Given the description of an element on the screen output the (x, y) to click on. 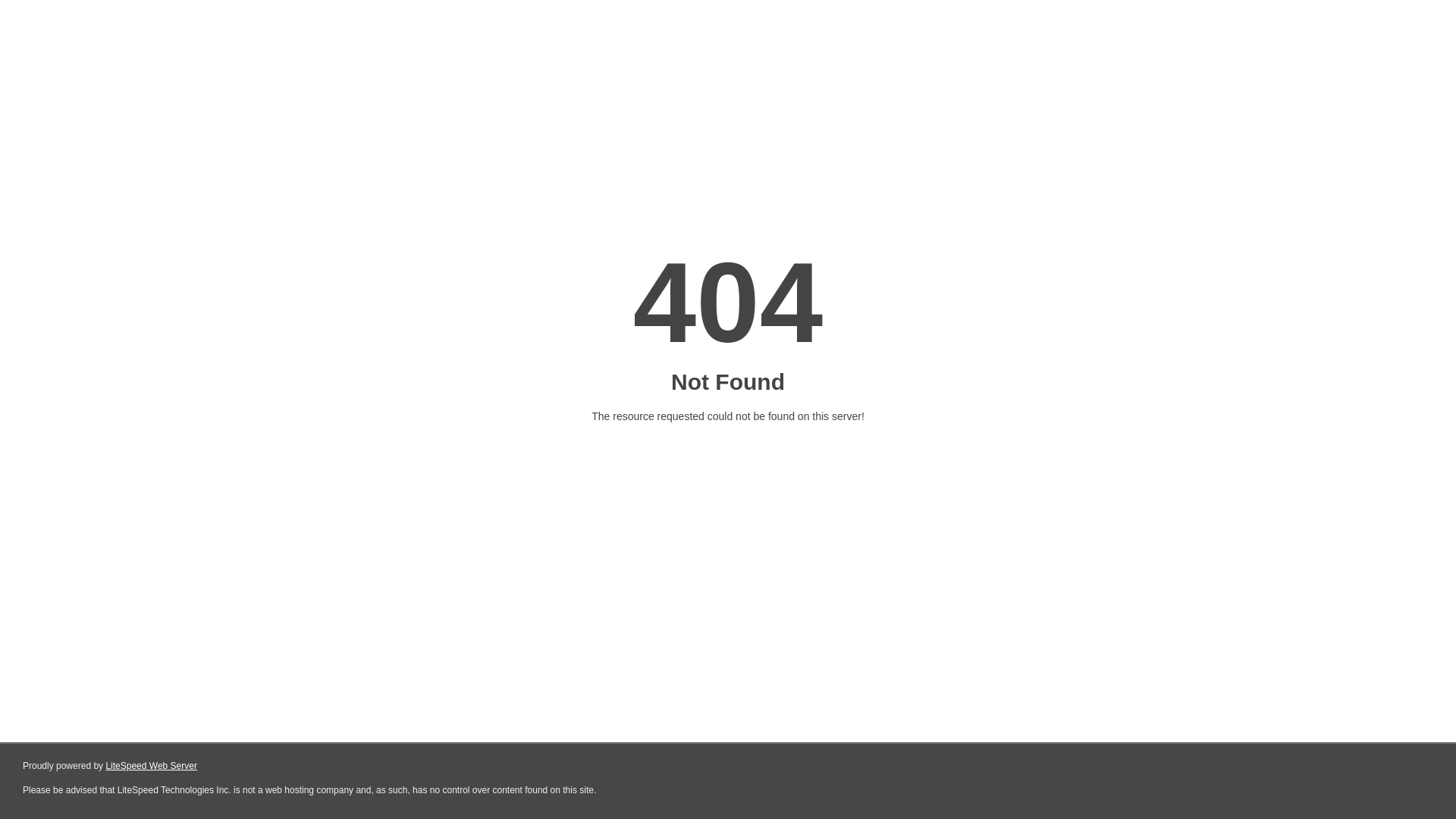
LiteSpeed Web Server Element type: text (151, 765)
